Given the description of an element on the screen output the (x, y) to click on. 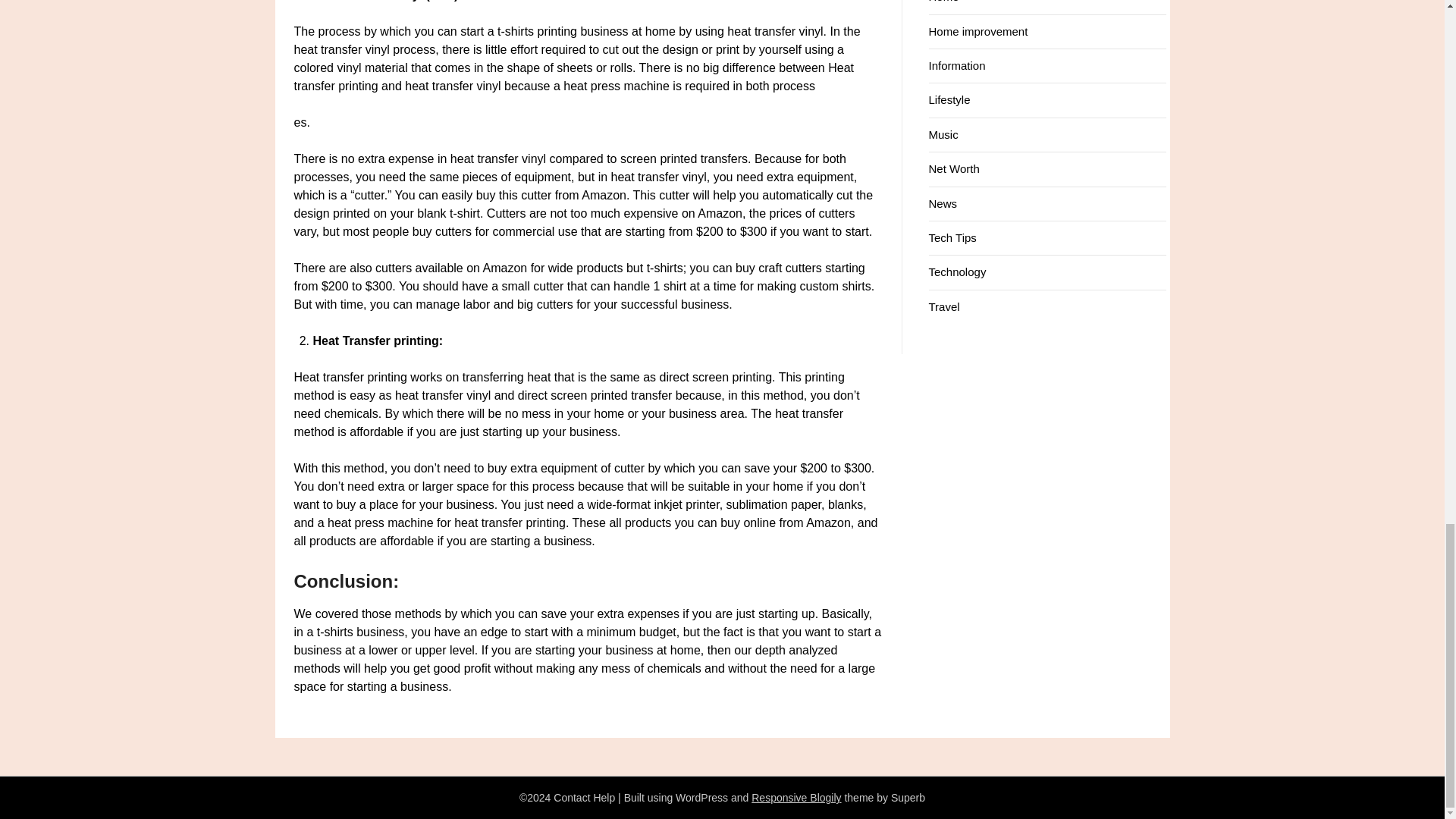
Lifestyle (948, 99)
Information (956, 65)
Home (943, 1)
Home improvement (977, 31)
